Given the description of an element on the screen output the (x, y) to click on. 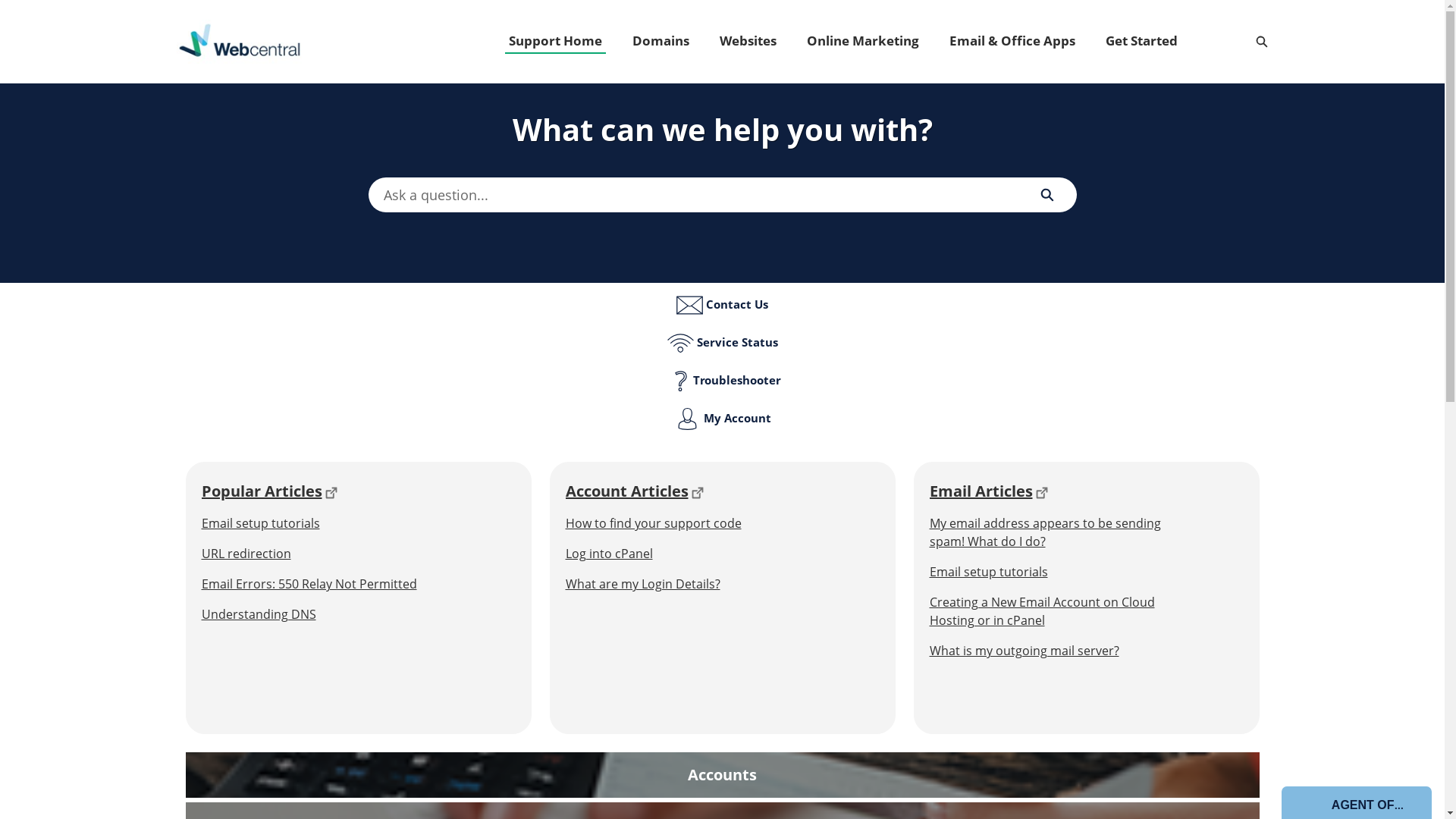
Email & Office Apps Element type: text (1011, 40)
URL redirection Element type: text (327, 553)
Domains Element type: text (659, 40)
Popular Articles Element type: text (261, 490)
Troubleshooter Element type: text (721, 386)
Email setup tutorials Element type: text (1055, 571)
Log into cPanel Element type: text (691, 553)
Get Started Element type: text (1140, 40)
Skip to Main Content Element type: text (9, 4)
Email Errors: 550 Relay Not Permitted Element type: text (327, 583)
Service Status Element type: text (721, 348)
Netregistry Support Element type: text (239, 41)
Email setup tutorials Element type: text (327, 523)
Expand search Element type: text (1260, 41)
My email address appears to be sending spam! What do I do? Element type: text (1055, 532)
Creating a New Email Account on Cloud Hosting or in cPanel Element type: text (1055, 610)
Email Articles Element type: text (980, 490)
My Account Element type: text (721, 424)
Websites Element type: text (747, 40)
Contact Us Element type: text (721, 310)
Understanding DNS Element type: text (327, 614)
Support Home Element type: text (555, 41)
What is my outgoing mail server? Element type: text (1055, 650)
Online Marketing Element type: text (862, 40)
How to find your support code Element type: text (691, 523)
Search Element type: text (1046, 194)
Account Articles Element type: text (626, 490)
Accounts Element type: text (721, 793)
What are my Login Details? Element type: text (691, 583)
